Given the description of an element on the screen output the (x, y) to click on. 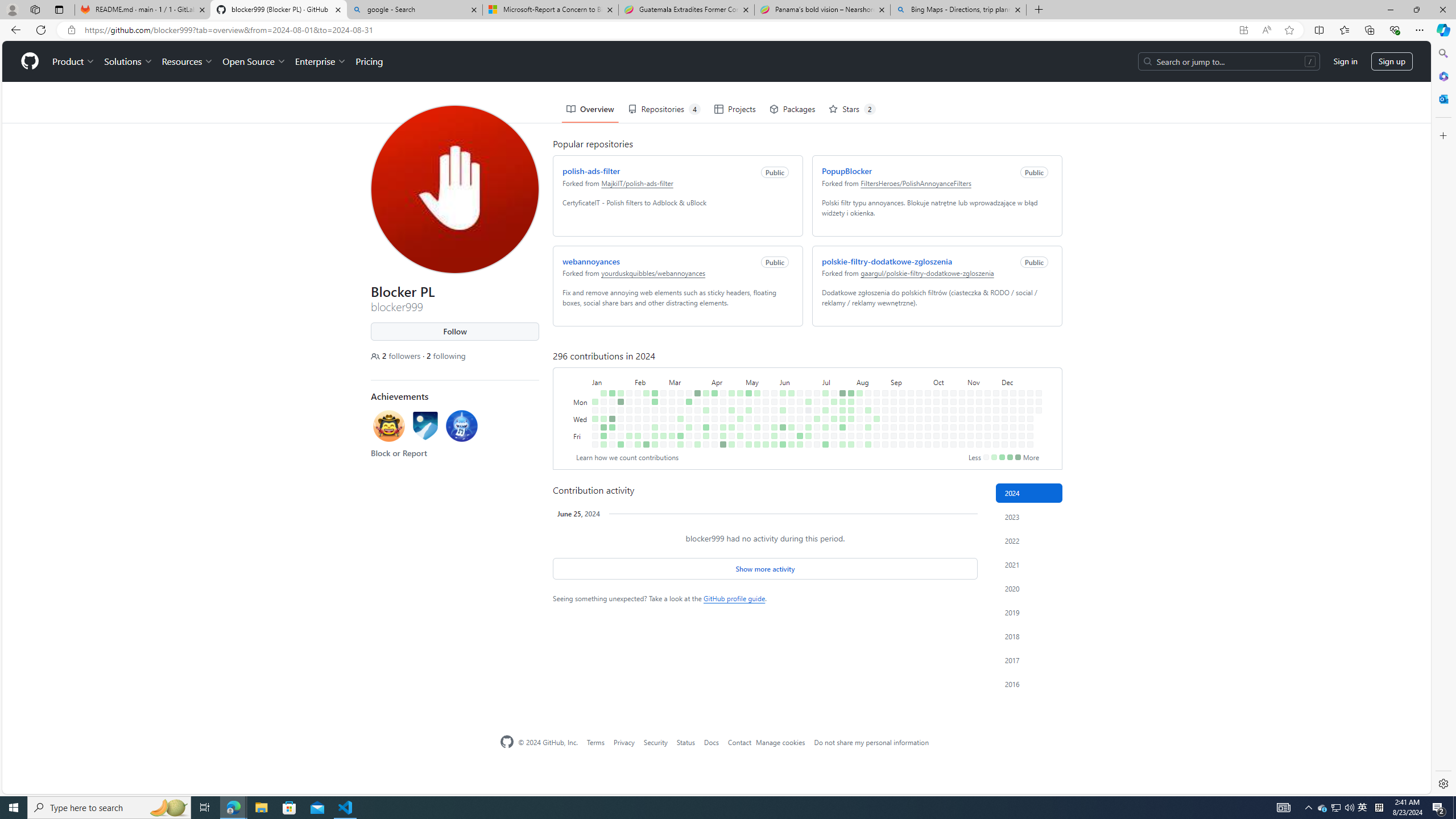
No contributions on November 12th. (976, 369)
1 contribution on March 8th. (669, 394)
No contributions on March 9th. (671, 444)
No contributions on August 16th. (866, 394)
No contributions on August 14th. (866, 377)
Sunday (579, 351)
3 contributions on April 5th. (703, 394)
Wednesday (579, 377)
1 contribution on March 31st. (703, 351)
No contributions on April 24th. (729, 377)
Product (71, 20)
2023 (1028, 516)
No contributions on November 23rd. (987, 444)
1 contribution on July 24th. (840, 377)
